Given the description of an element on the screen output the (x, y) to click on. 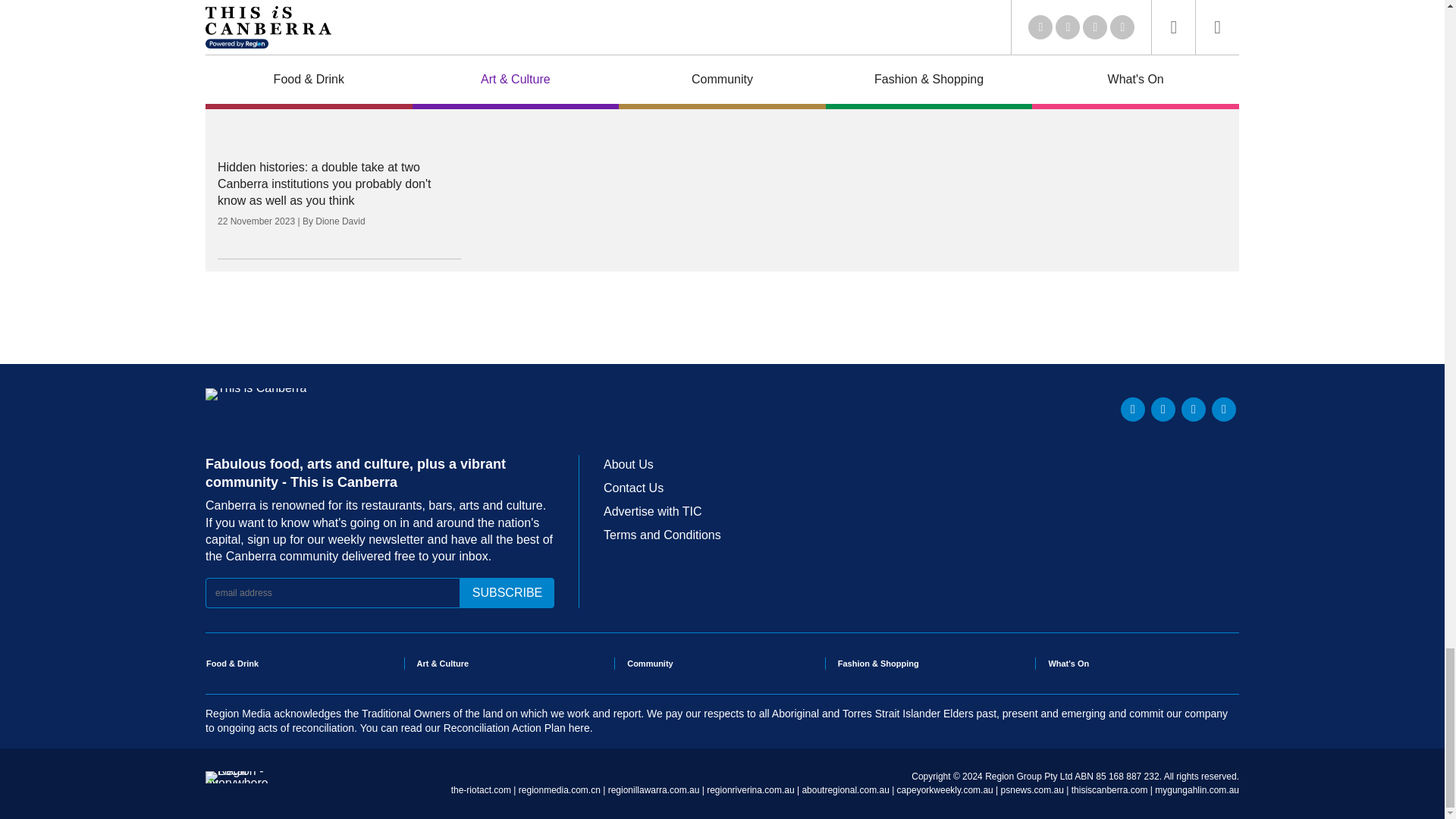
Twitter (1132, 409)
TikTok (1223, 409)
Facebook (1162, 409)
Region - Local everywhere (236, 783)
subscribe (507, 593)
Instagram (1192, 409)
